Given the description of an element on the screen output the (x, y) to click on. 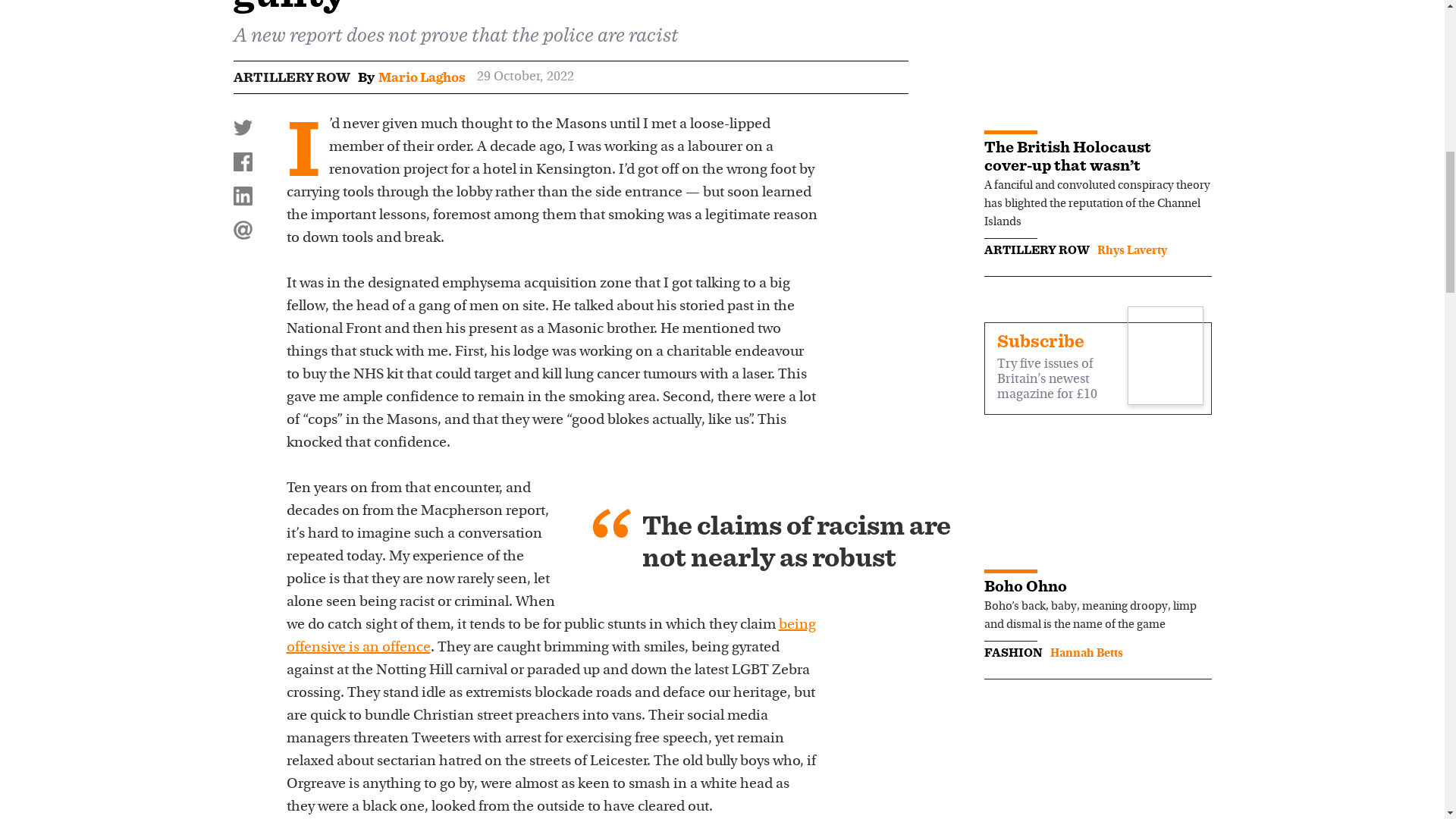
being offensive is an offence (550, 636)
Posts by Hannah Betts (1085, 653)
ARTILLERY ROW (291, 76)
Posts by Mario Laghos (420, 76)
Mario Laghos (420, 76)
Posts by Rhys Laverty (1131, 250)
